Given the description of an element on the screen output the (x, y) to click on. 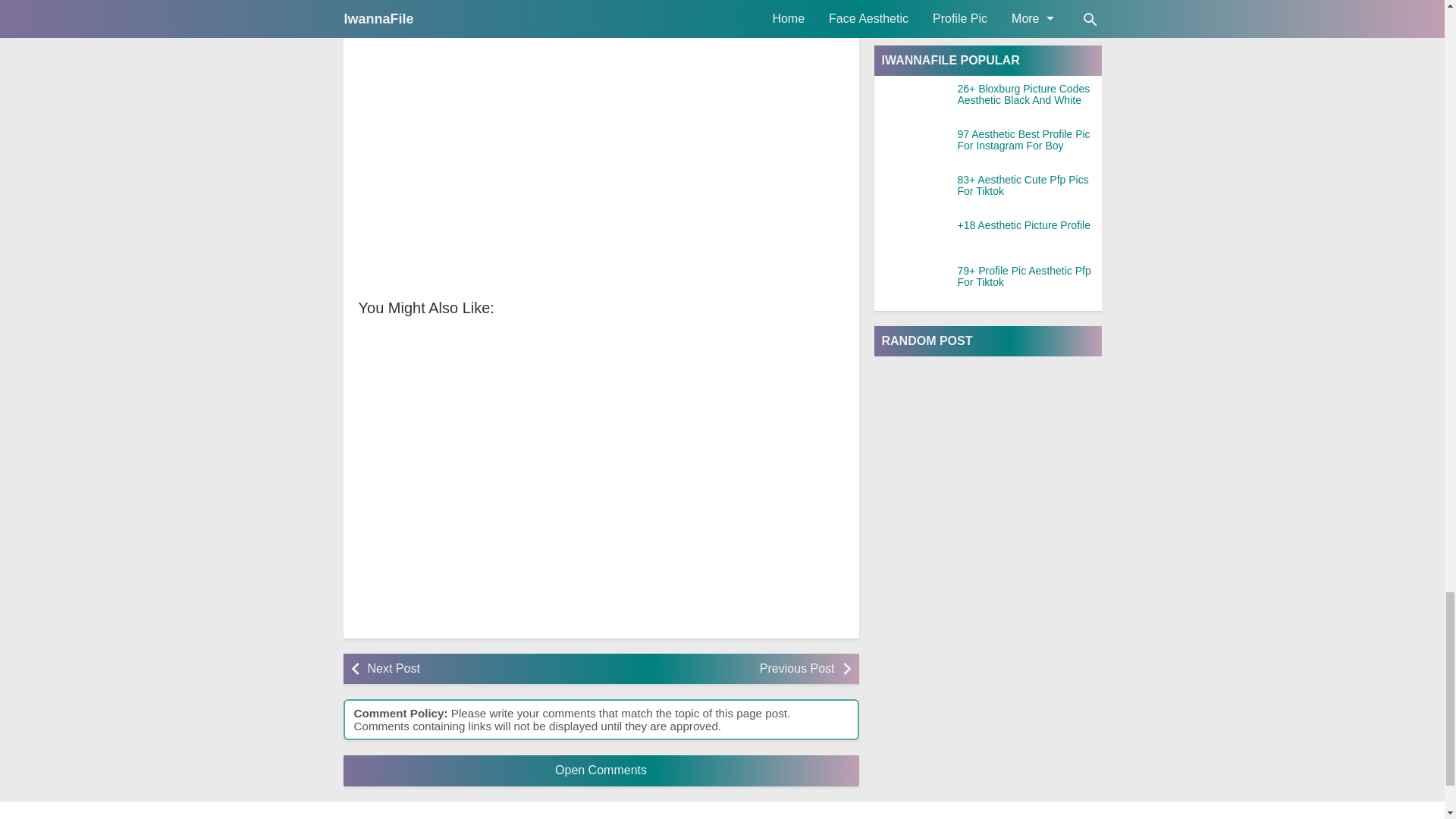
Previous Post (721, 668)
Next Post (479, 668)
Newer Post (479, 668)
